Given the description of an element on the screen output the (x, y) to click on. 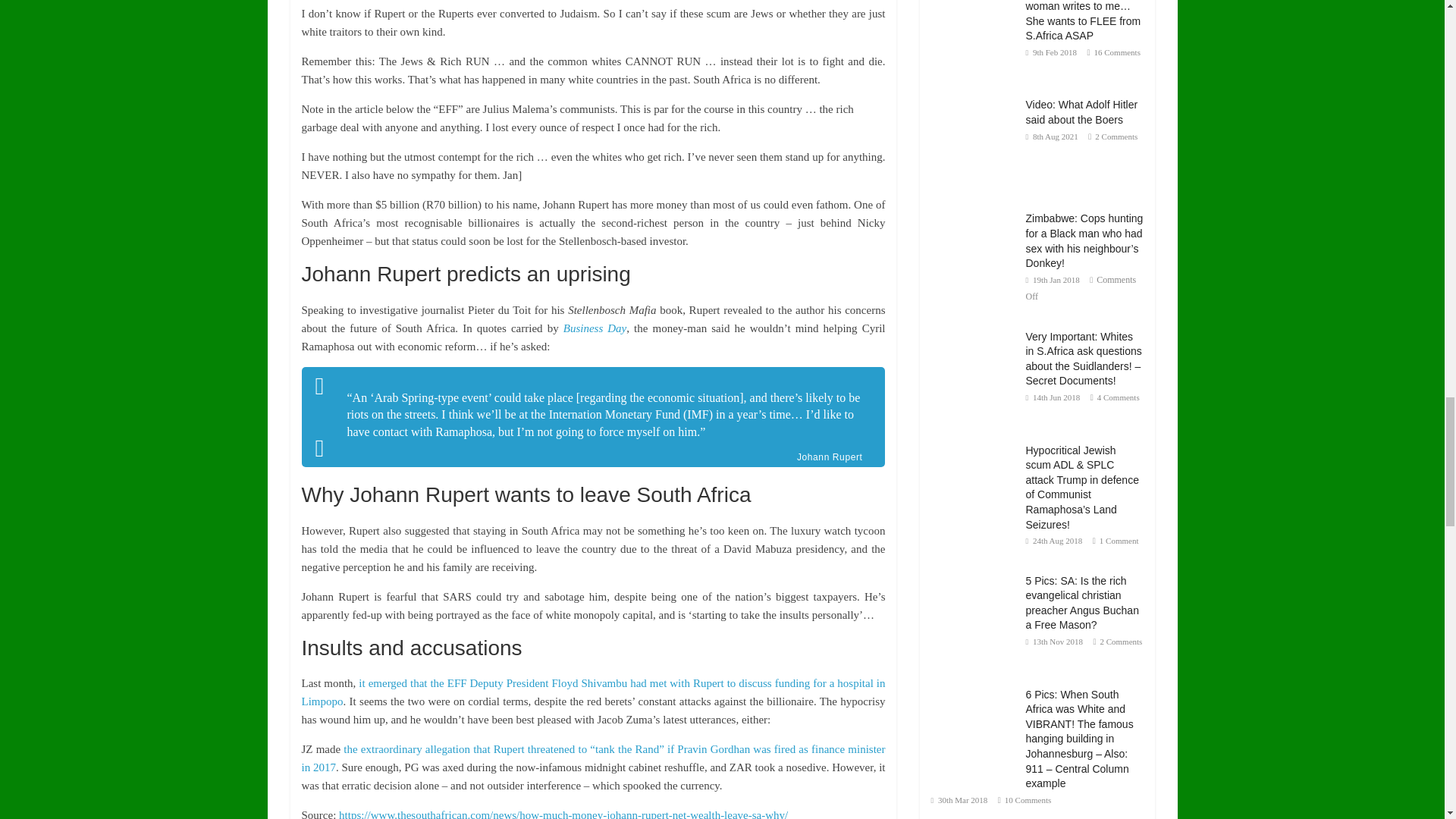
Business Day (595, 328)
